Given the description of an element on the screen output the (x, y) to click on. 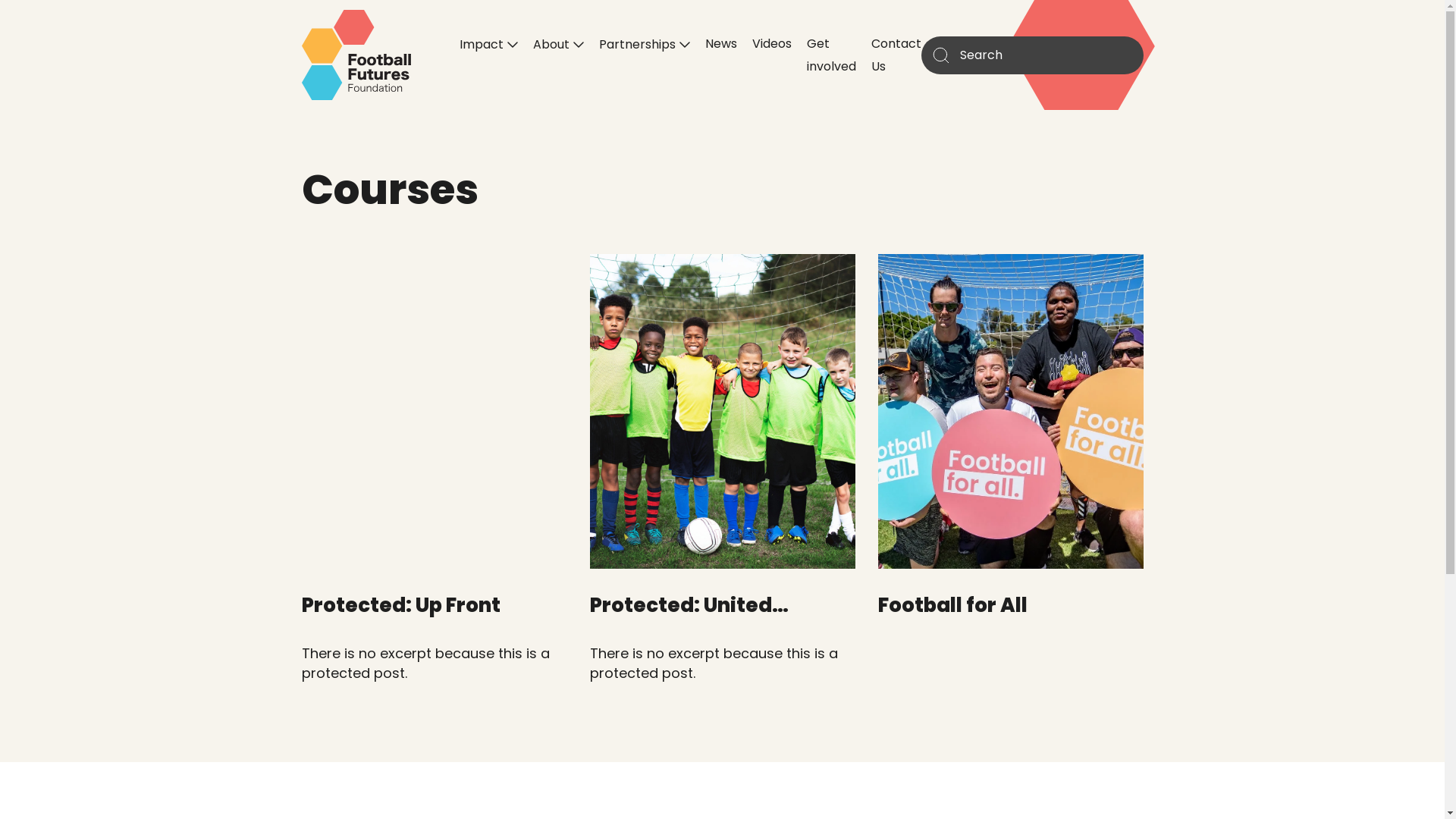
Get involved Element type: text (831, 54)
News Element type: text (721, 42)
Contact Us Element type: text (895, 54)
Protected: Up Front Element type: text (400, 604)
About Element type: text (557, 43)
Impact Element type: text (488, 43)
Football for All Element type: text (952, 604)
Protected: United through Football Element type: text (688, 618)
Partnerships Element type: text (644, 43)
Videos Element type: text (771, 42)
